Given the description of an element on the screen output the (x, y) to click on. 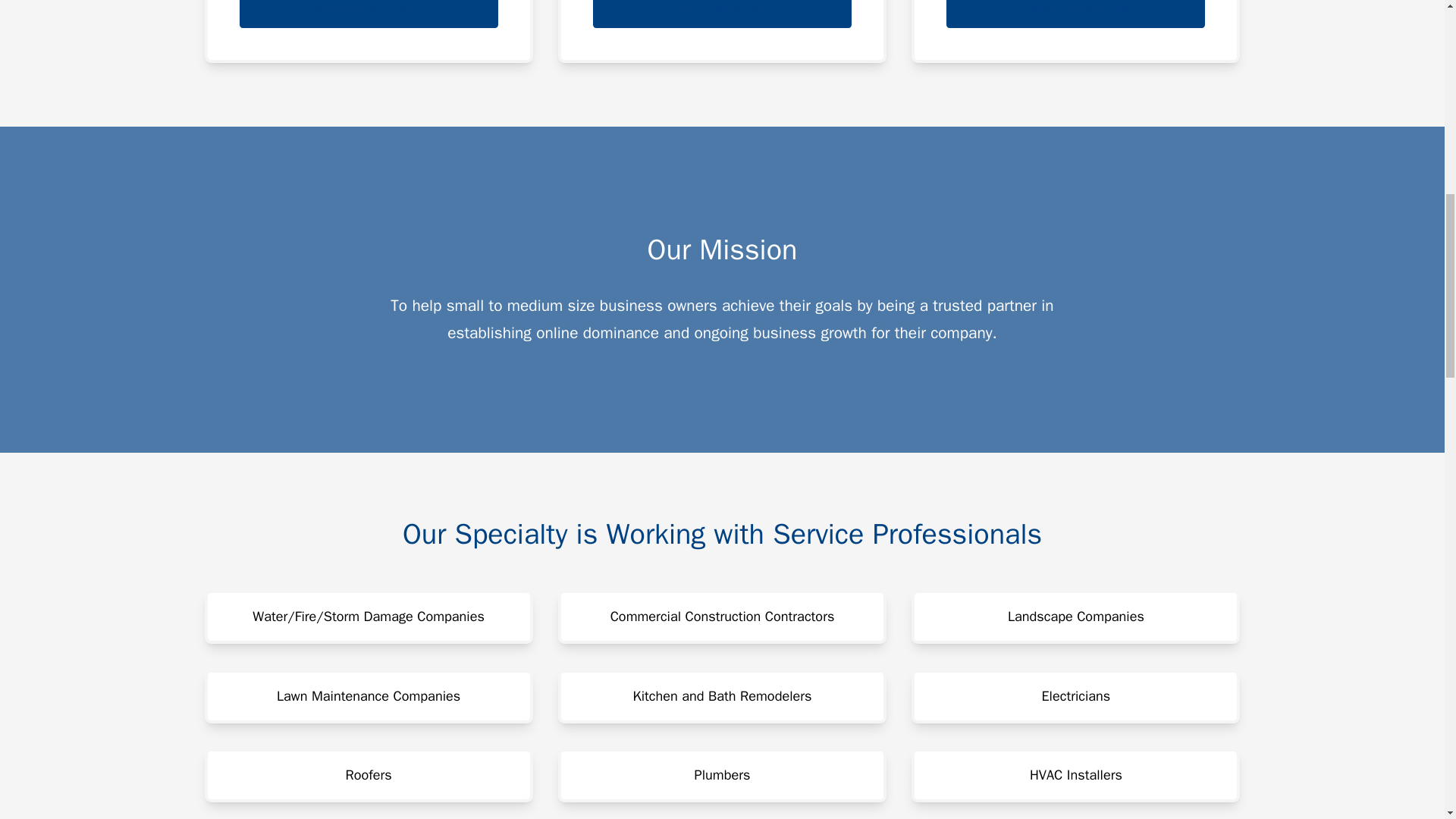
DIGITAL MARKETING (721, 13)
ONLINE OPTIMIZATION (1075, 13)
WEBSITE DEVELOPMENT (368, 13)
